Given the description of an element on the screen output the (x, y) to click on. 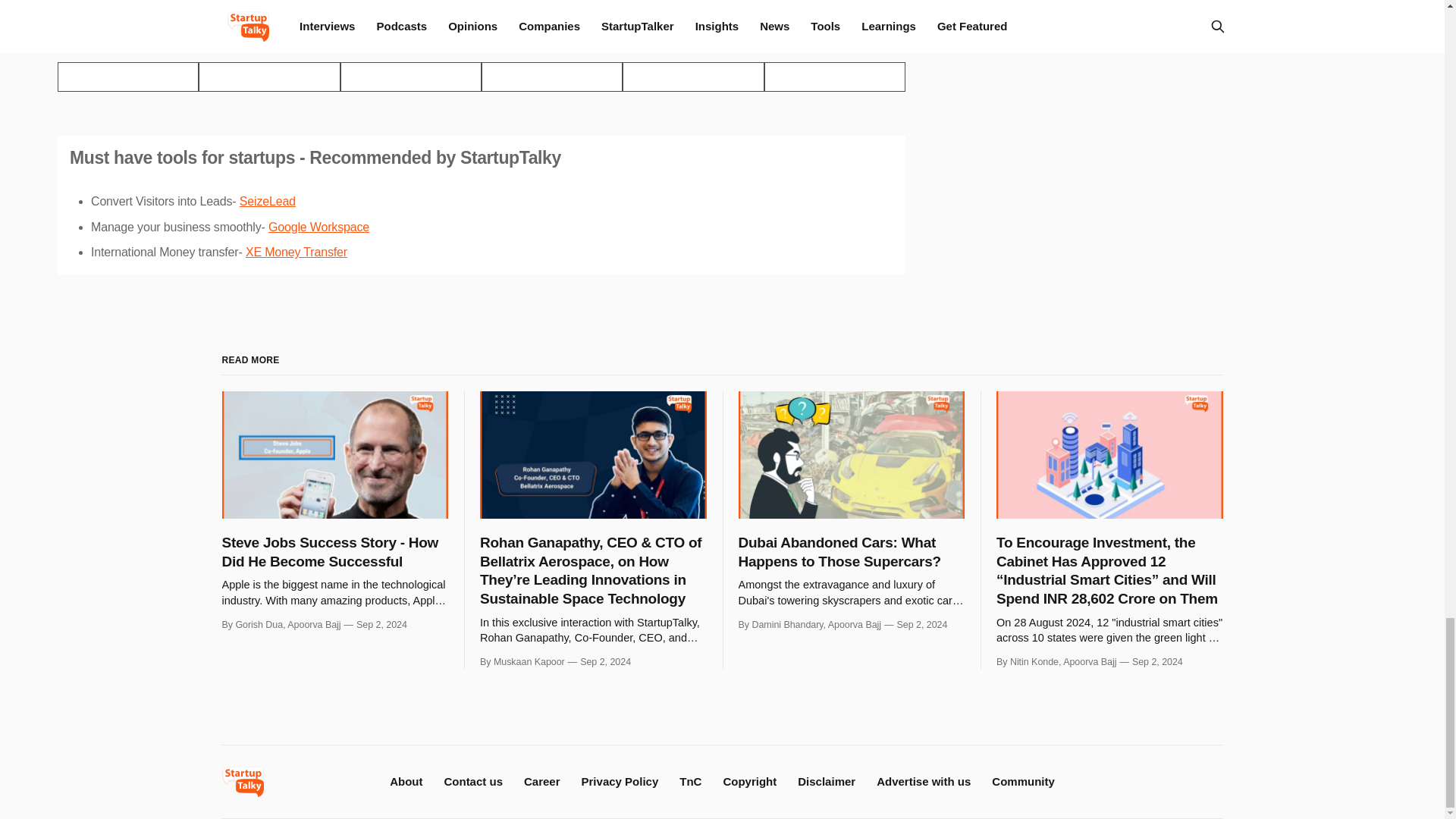
Privacy Policy (619, 780)
About (406, 780)
TnC (690, 780)
XE Money Transfer (296, 251)
Share on Twitter (128, 76)
Share on Linkedin (410, 76)
Copyright (749, 780)
Copy to clipboard (692, 76)
Career (542, 780)
